Given the description of an element on the screen output the (x, y) to click on. 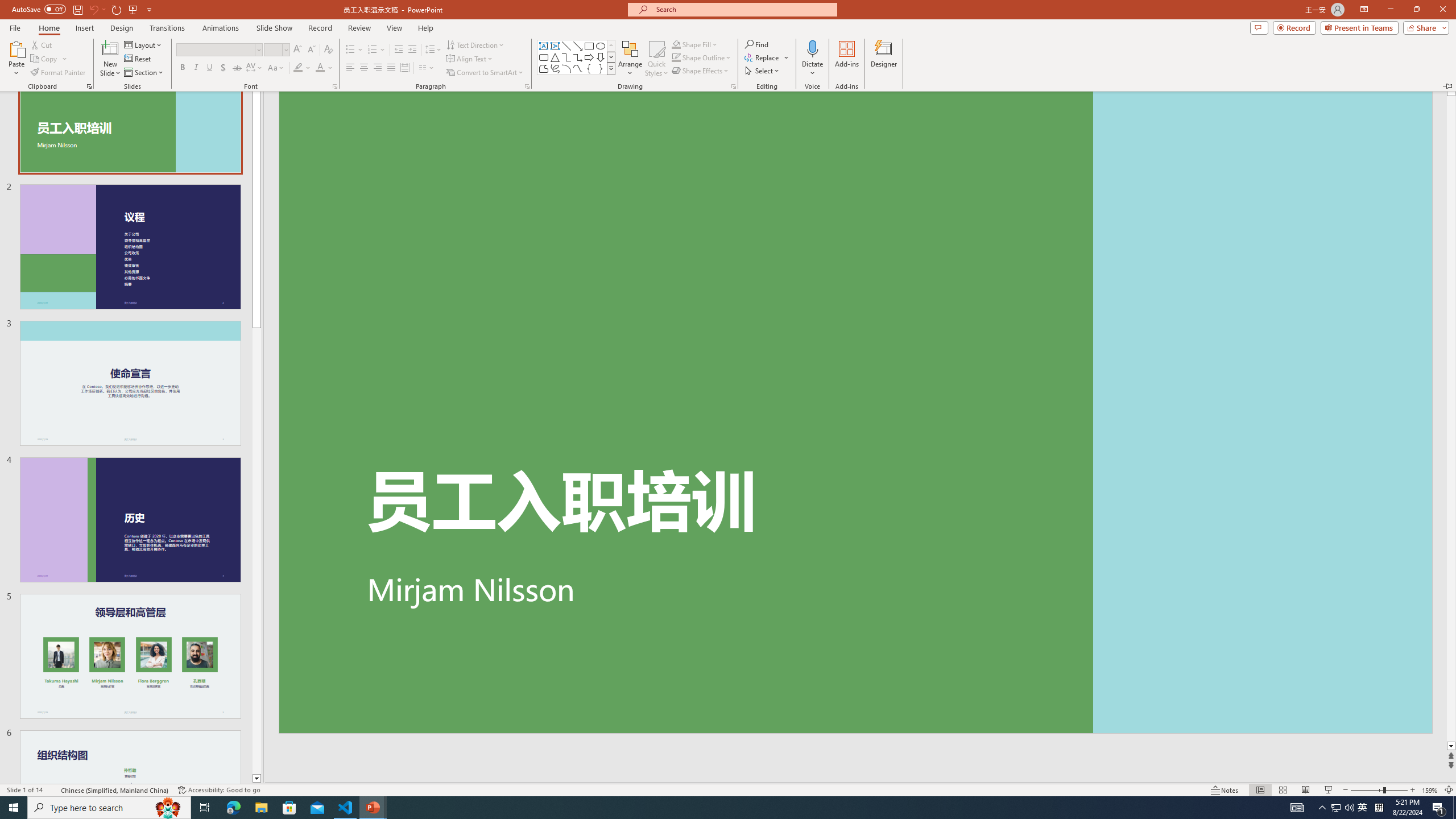
Search highlights icon opens search home window (167, 807)
Type here to search (108, 807)
